Given the description of an element on the screen output the (x, y) to click on. 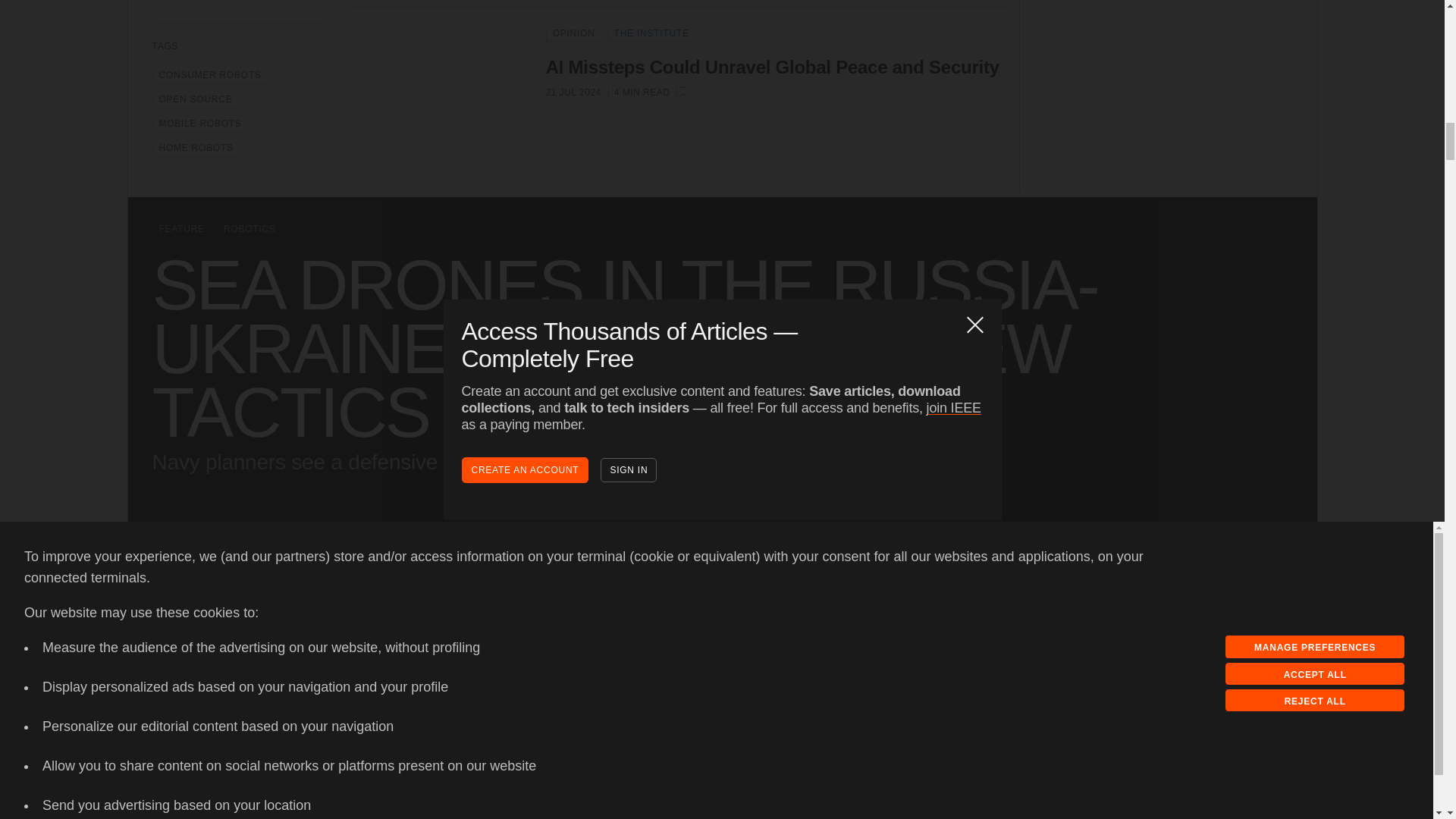
Copy this link to clipboard (1199, 686)
